Given the description of an element on the screen output the (x, y) to click on. 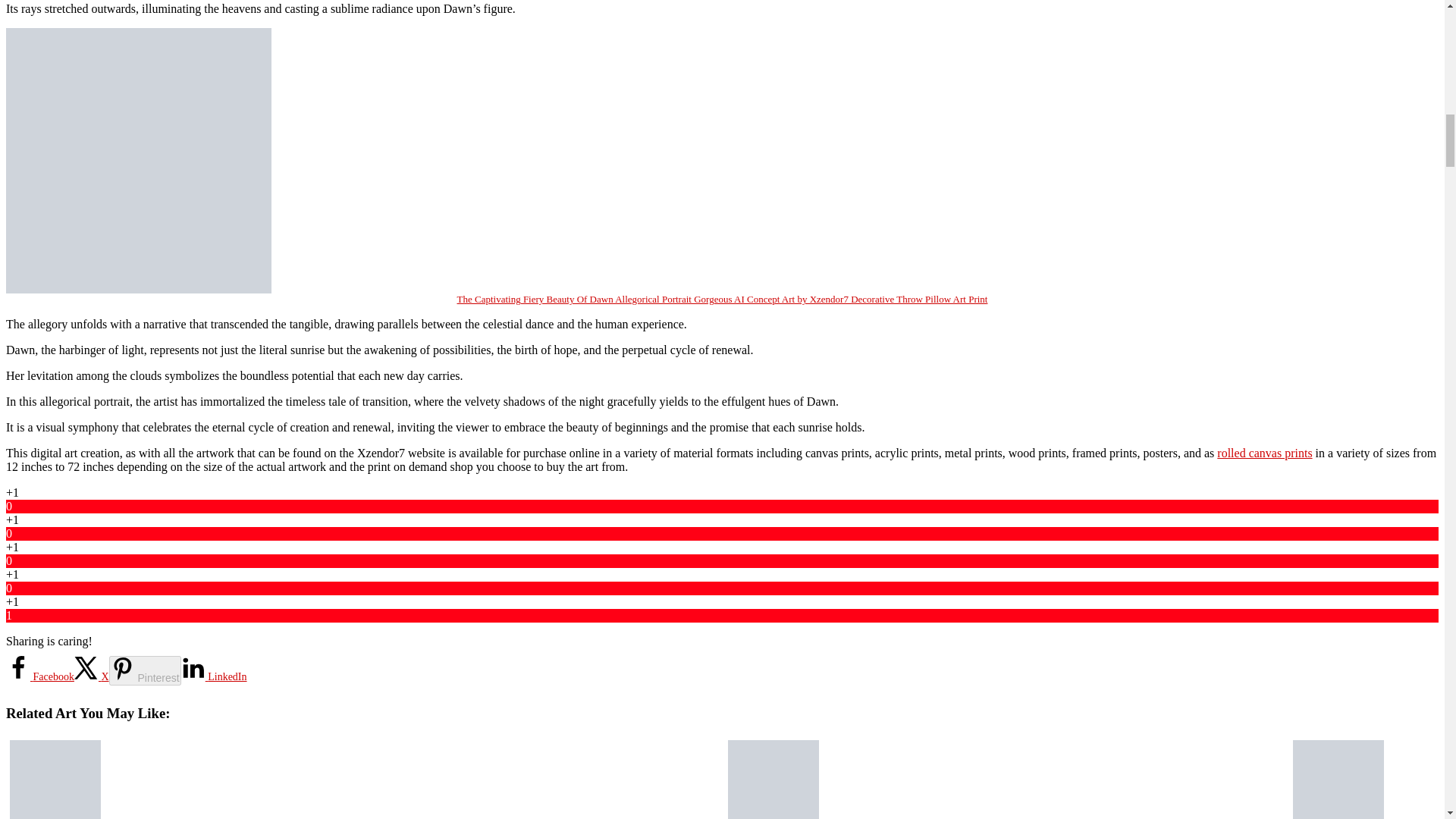
Share on Facebook (39, 676)
Share on X (91, 676)
Save to Pinterest (144, 670)
Share on LinkedIn (213, 676)
